Given the description of an element on the screen output the (x, y) to click on. 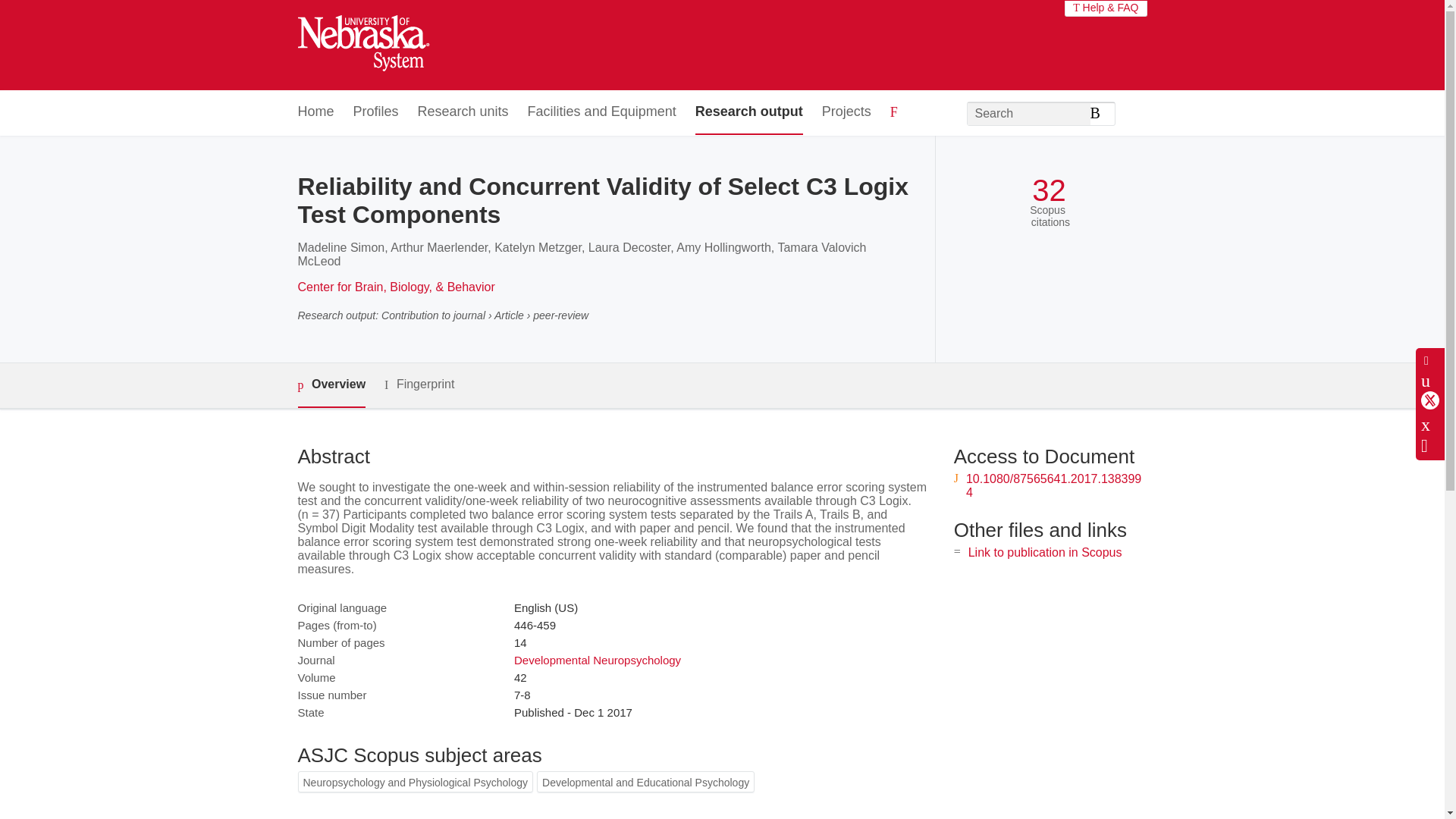
Facilities and Equipment (602, 112)
Research units (462, 112)
Developmental Neuropsychology (597, 659)
Link to publication in Scopus (1045, 552)
Overview (331, 385)
Projects (846, 112)
Research Nebraska Home (363, 45)
32 (1048, 190)
Profiles (375, 112)
Research output (749, 112)
Home (315, 112)
Fingerprint (419, 384)
